Given the description of an element on the screen output the (x, y) to click on. 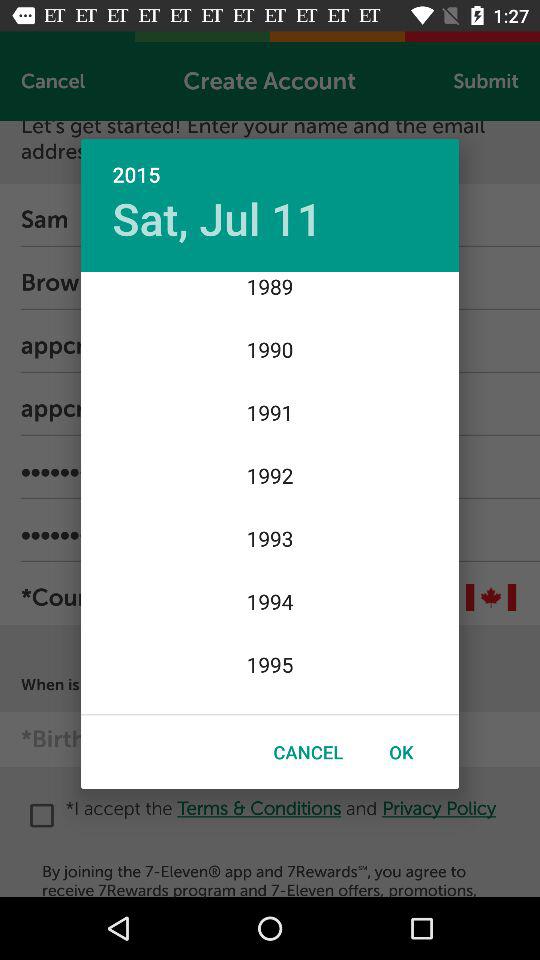
launch the cancel (308, 751)
